Given the description of an element on the screen output the (x, y) to click on. 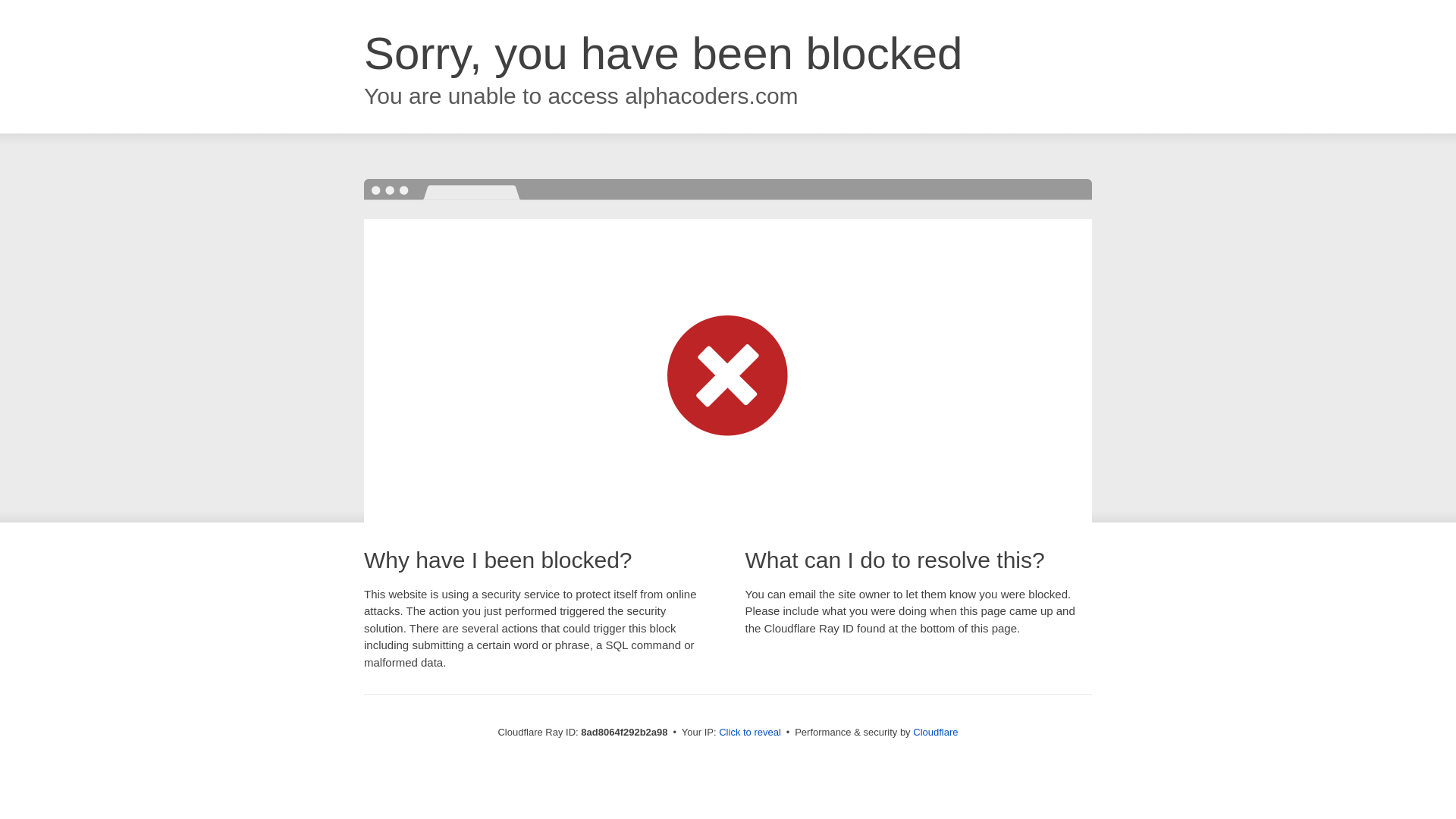
Click to reveal (749, 732)
Cloudflare (935, 731)
